Given the description of an element on the screen output the (x, y) to click on. 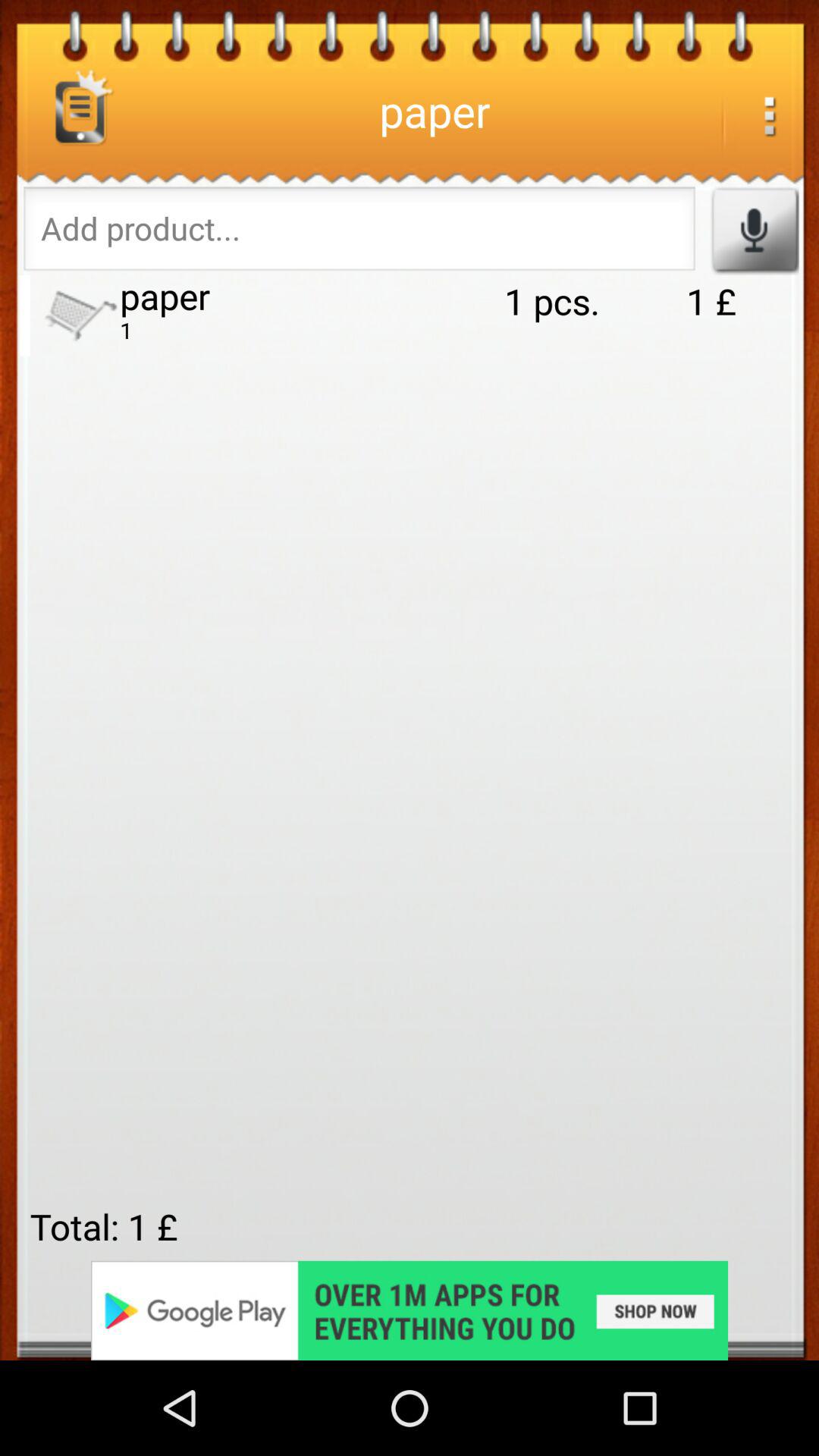
add banner (409, 1310)
